Given the description of an element on the screen output the (x, y) to click on. 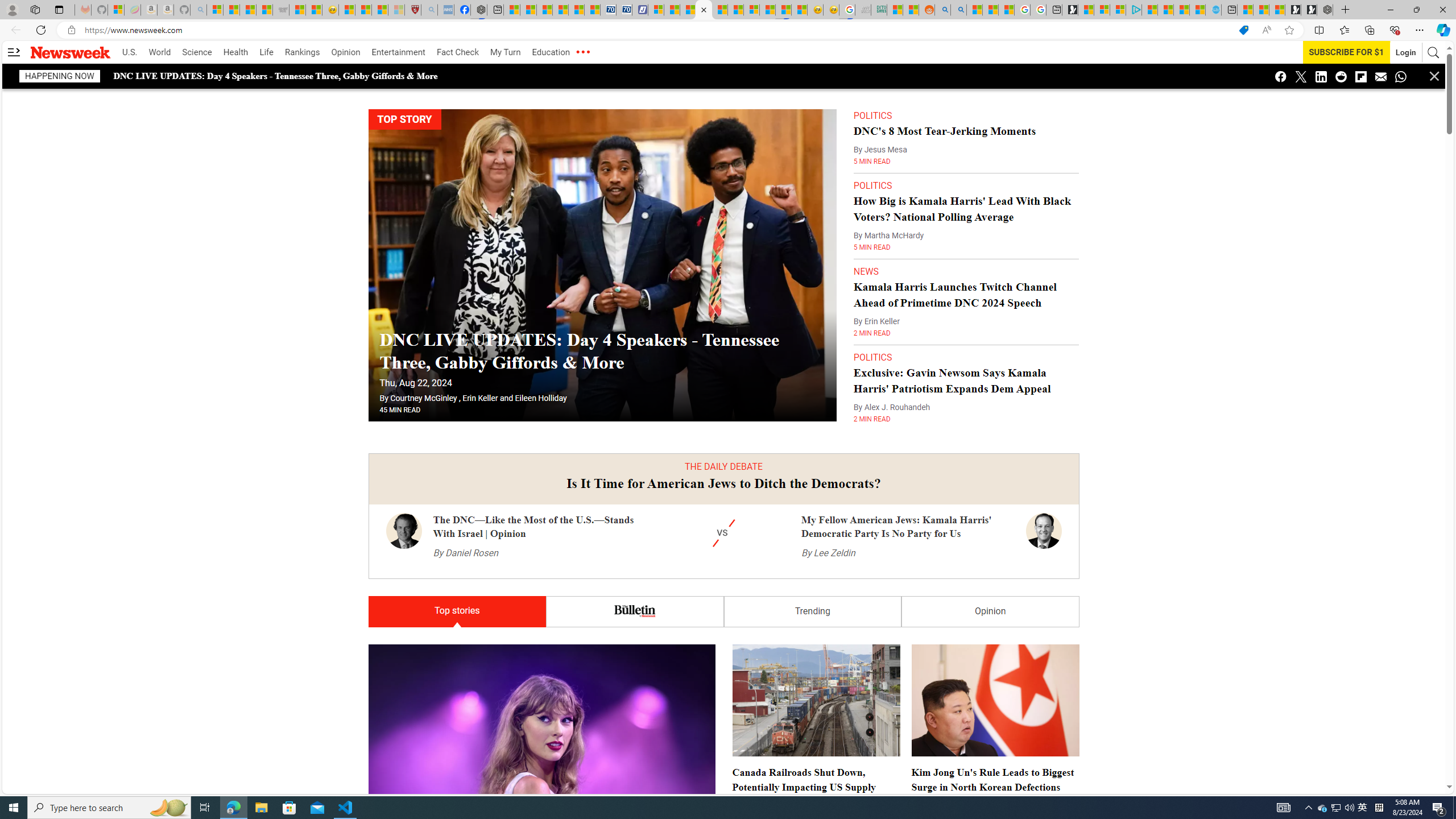
Rankings (302, 52)
By Alex J. Rouhandeh (891, 406)
Life (266, 52)
Life (266, 52)
Opinion (989, 611)
Entertainment (397, 52)
Class: icon-twitter (1300, 75)
